Given the description of an element on the screen output the (x, y) to click on. 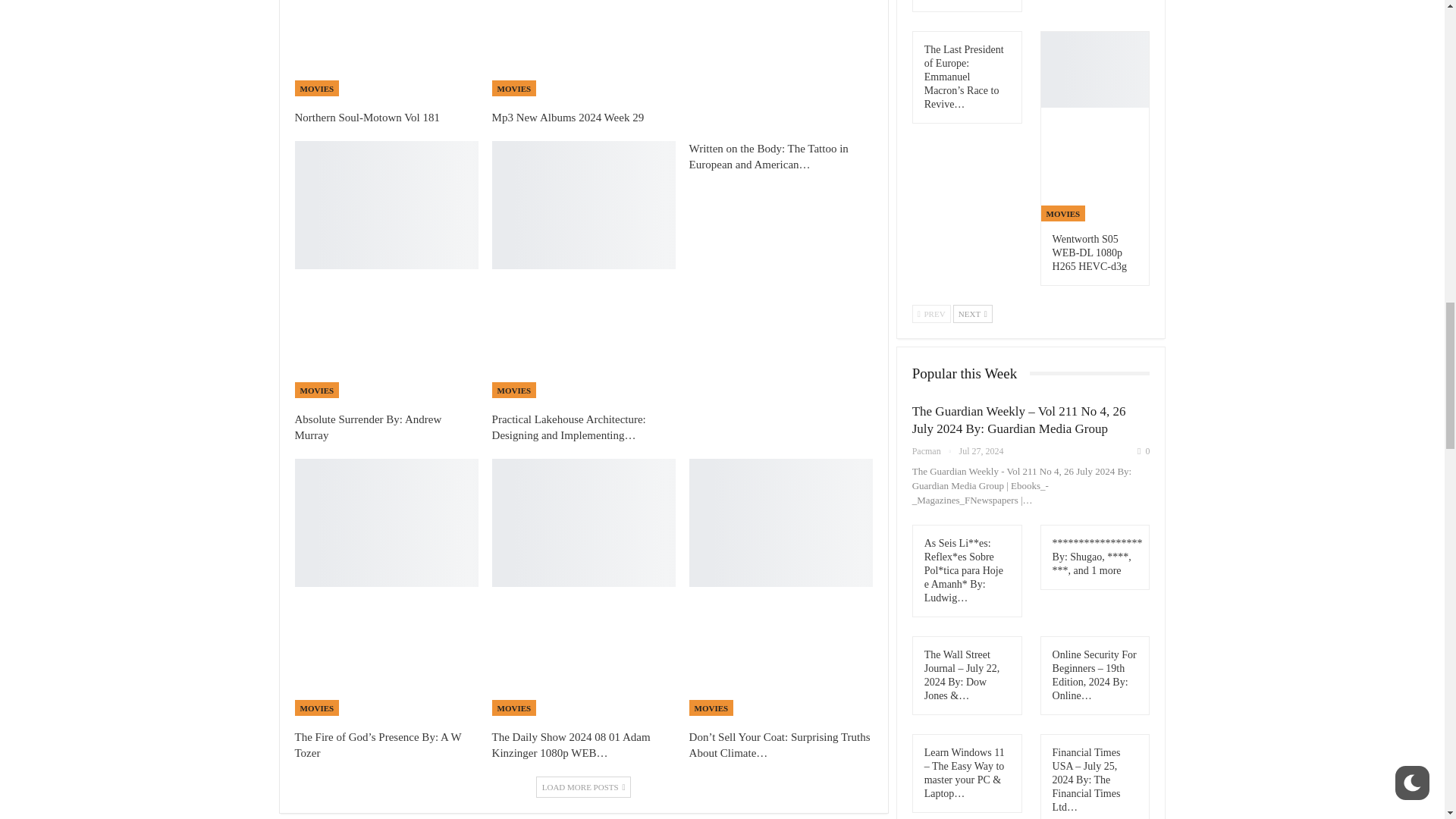
Mp3 New Albums 2024 Week 29 (583, 48)
Absolute Surrender By: Andrew Murray (367, 427)
Mp3 New Albums 2024 Week 29 (568, 117)
Northern Soul-Motown Vol 181 (385, 48)
Northern Soul-Motown Vol 181 (366, 117)
